Given the description of an element on the screen output the (x, y) to click on. 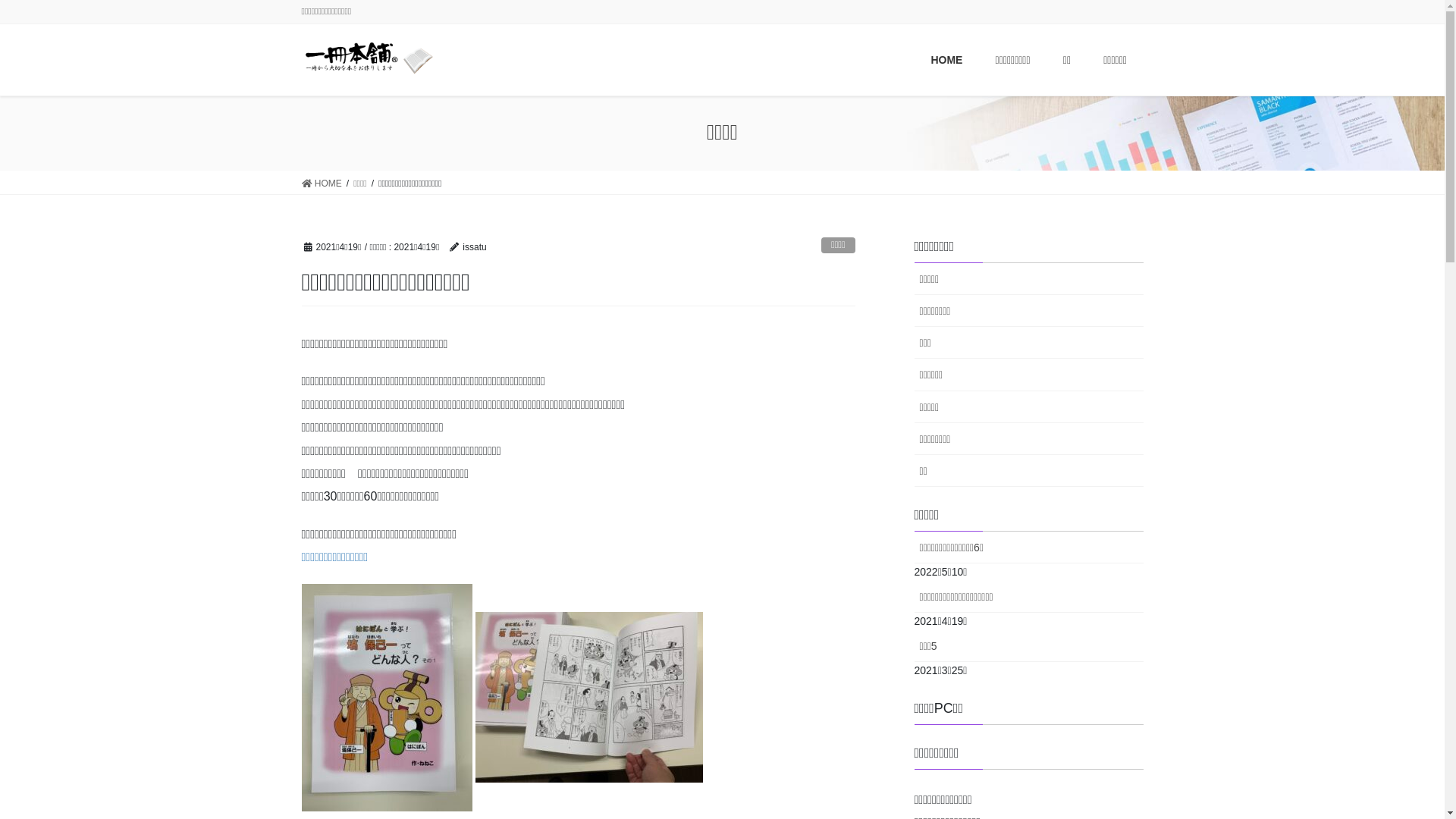
HOME Element type: text (321, 182)
HOME Element type: text (946, 60)
